Given the description of an element on the screen output the (x, y) to click on. 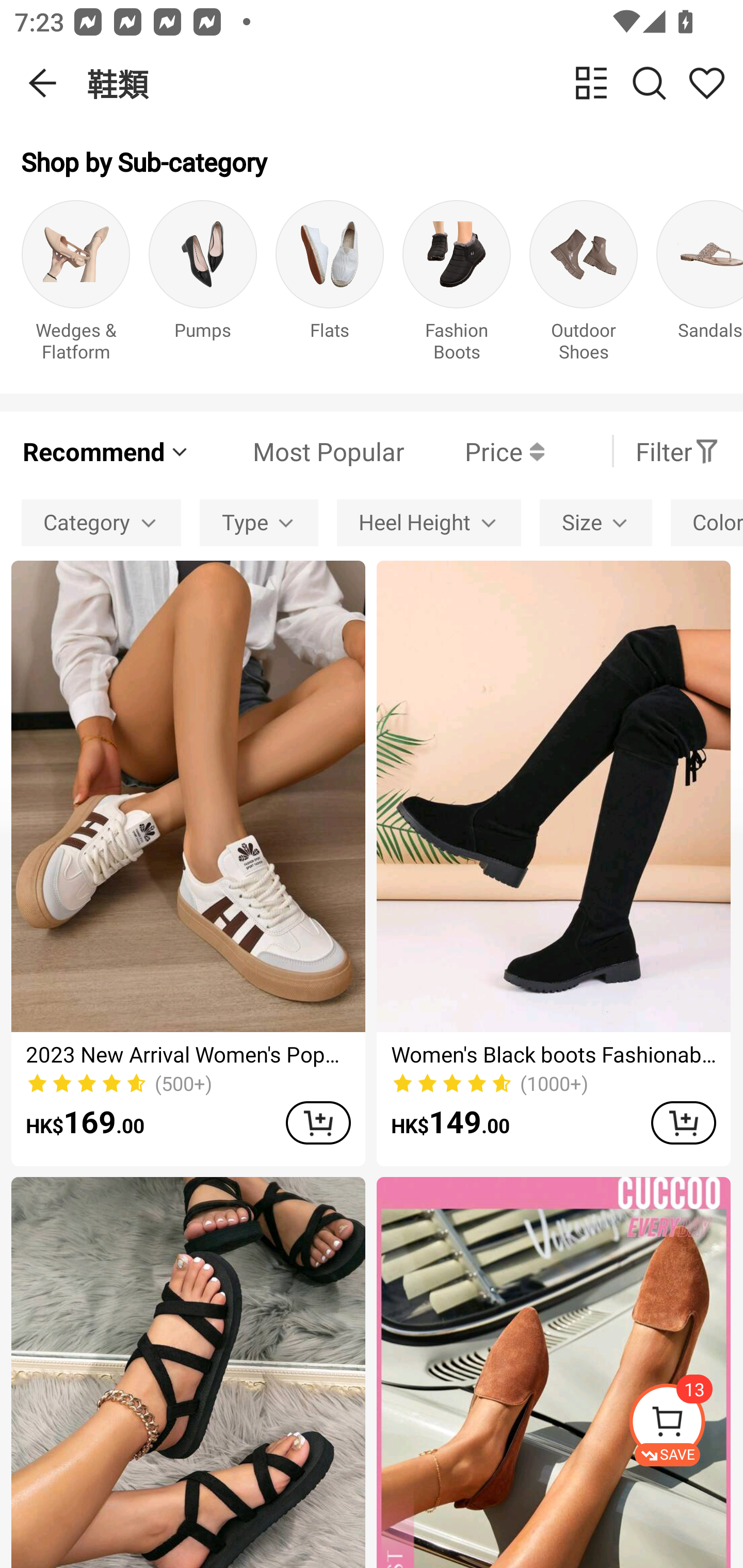
鞋類 change view Search Share (414, 82)
change view (591, 82)
Search (648, 82)
Share (706, 82)
Wedges & Flatform (75, 285)
Pumps (202, 285)
Flats (329, 285)
Fashion Boots (456, 285)
Outdoor Shoes (583, 285)
Sandals (699, 285)
Recommend (106, 450)
Most Popular (297, 450)
Price (474, 450)
Filter (677, 450)
Category (101, 521)
Type (258, 521)
Heel Height (428, 521)
Size (595, 521)
Color (706, 521)
ADD TO CART (318, 1122)
ADD TO CART (683, 1122)
SAVE (685, 1424)
